Given the description of an element on the screen output the (x, y) to click on. 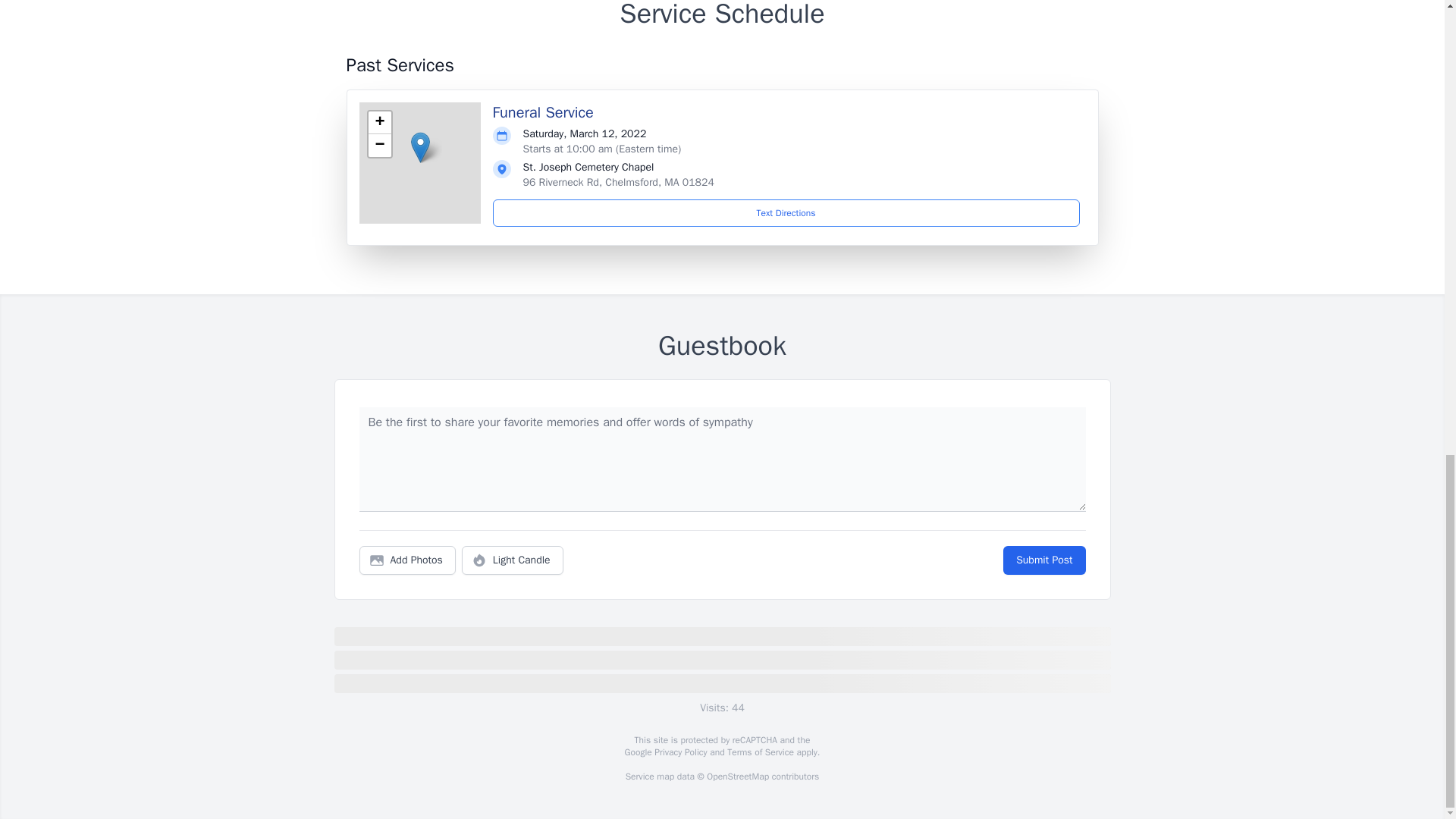
Zoom in (379, 122)
Terms of Service (759, 752)
Zoom out (379, 145)
Text Directions (786, 212)
Light Candle (512, 560)
Submit Post (1043, 560)
Privacy Policy (679, 752)
OpenStreetMap (737, 776)
96 Riverneck Rd, Chelmsford, MA 01824 (618, 182)
Add Photos (407, 560)
